Given the description of an element on the screen output the (x, y) to click on. 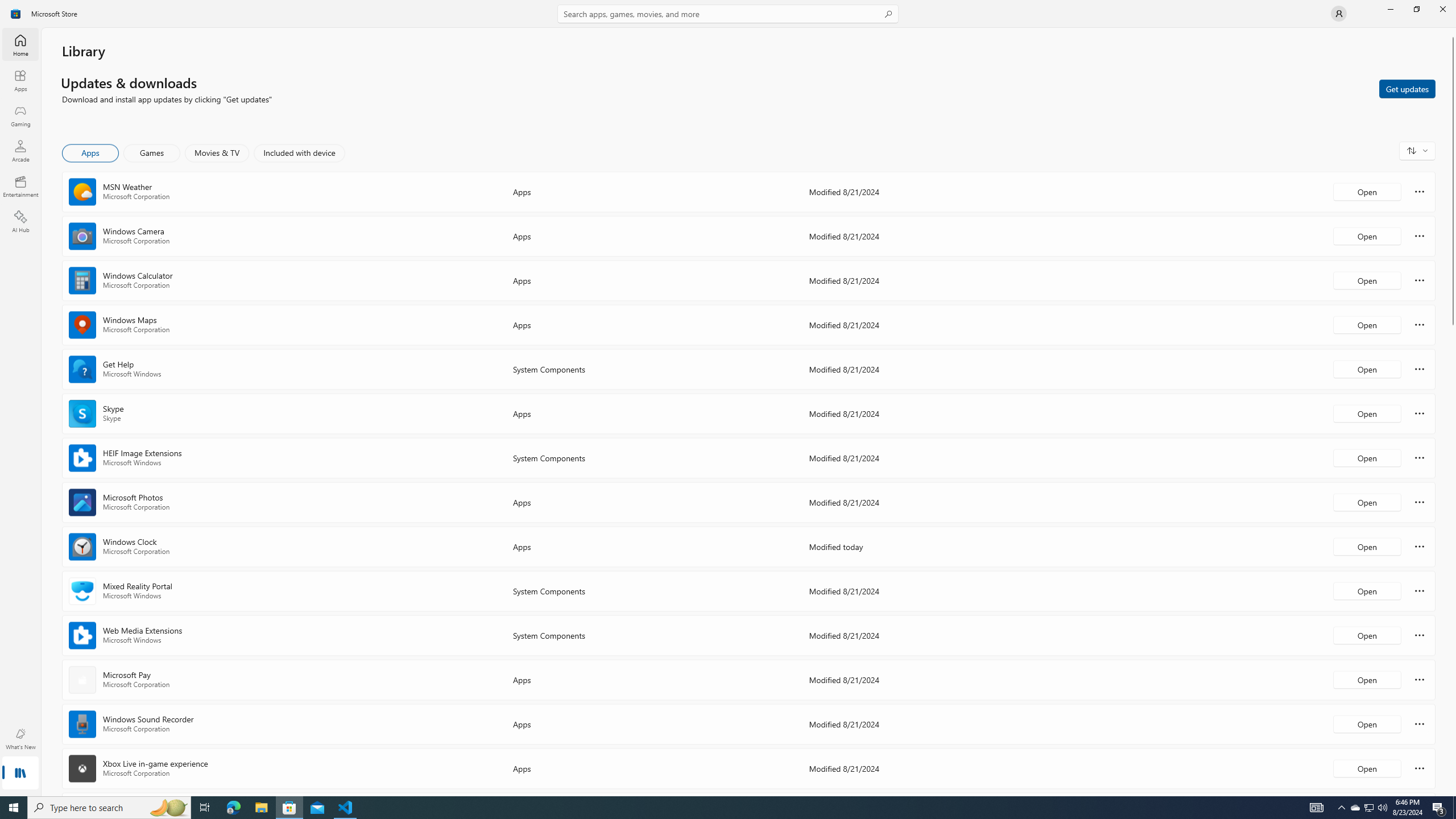
Sort and filter (1417, 149)
Included with device (299, 153)
Search (727, 13)
Movies & TV (216, 153)
Vertical (1452, 412)
AutomationID: NavigationControl (728, 398)
Vertical Small Decrease (1452, 31)
Vertical Small Increase (1452, 792)
Get updates (1406, 88)
